Given the description of an element on the screen output the (x, y) to click on. 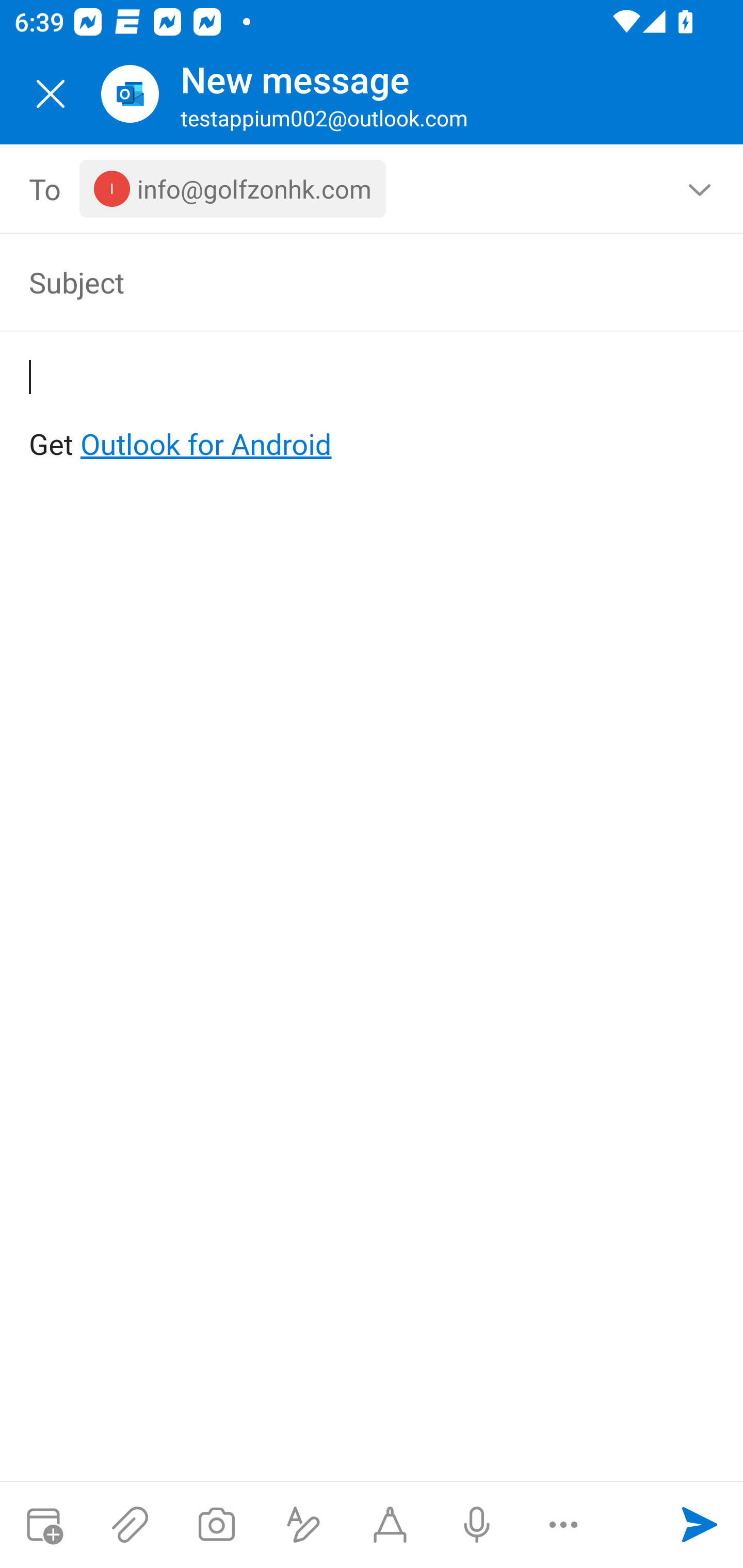
Close (50, 93)
Subject (342, 281)


Get Outlook for Android (372, 411)
Attach meeting (43, 1524)
Attach files (129, 1524)
Take a photo (216, 1524)
Show formatting options (303, 1524)
Start Ink compose (389, 1524)
Dictation (476, 1524)
More options (563, 1524)
Send (699, 1524)
